Given the description of an element on the screen output the (x, y) to click on. 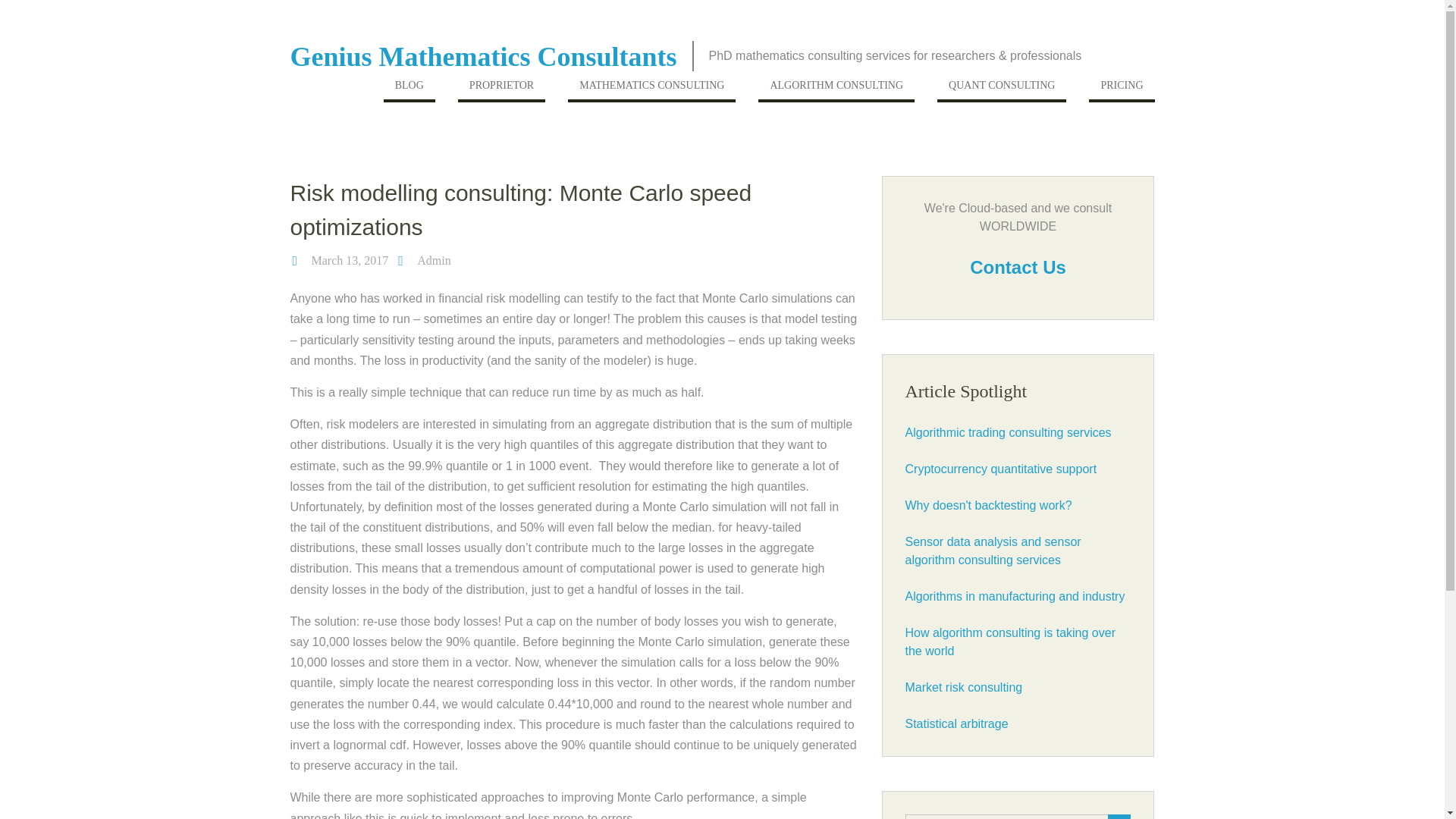
How algorithm consulting is taking over the world (1010, 641)
Admin (432, 259)
Genius Mathematics Consultants (483, 56)
Contact Us (1017, 267)
PRICING (1121, 88)
MATHEMATICS CONSULTING (651, 88)
Algorithmic trading consulting services (1008, 431)
Why doesn't backtesting work? (988, 504)
BLOG (409, 88)
ALGORITHM CONSULTING (836, 88)
